Given the description of an element on the screen output the (x, y) to click on. 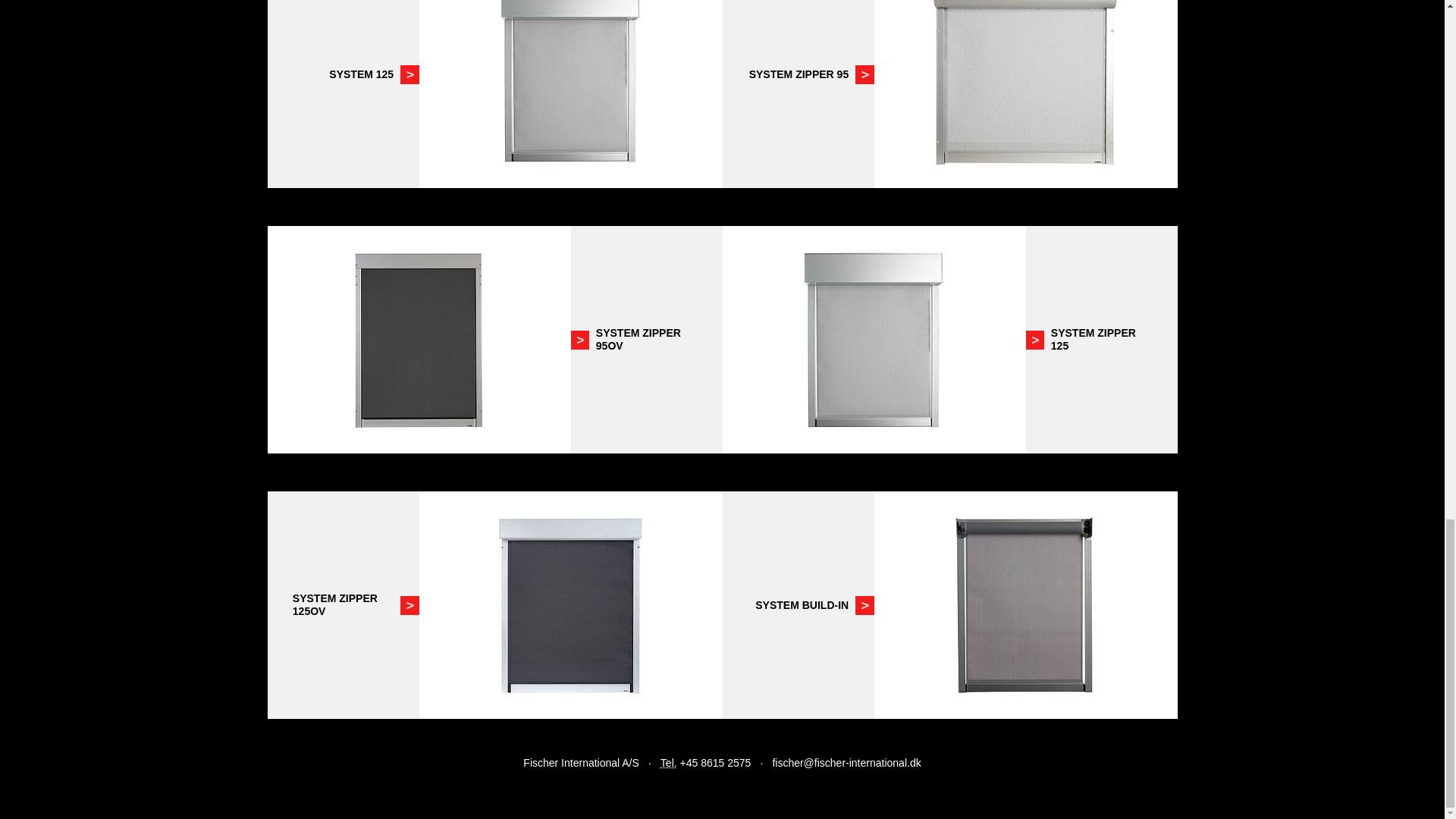
Phone number (669, 762)
